Given the description of an element on the screen output the (x, y) to click on. 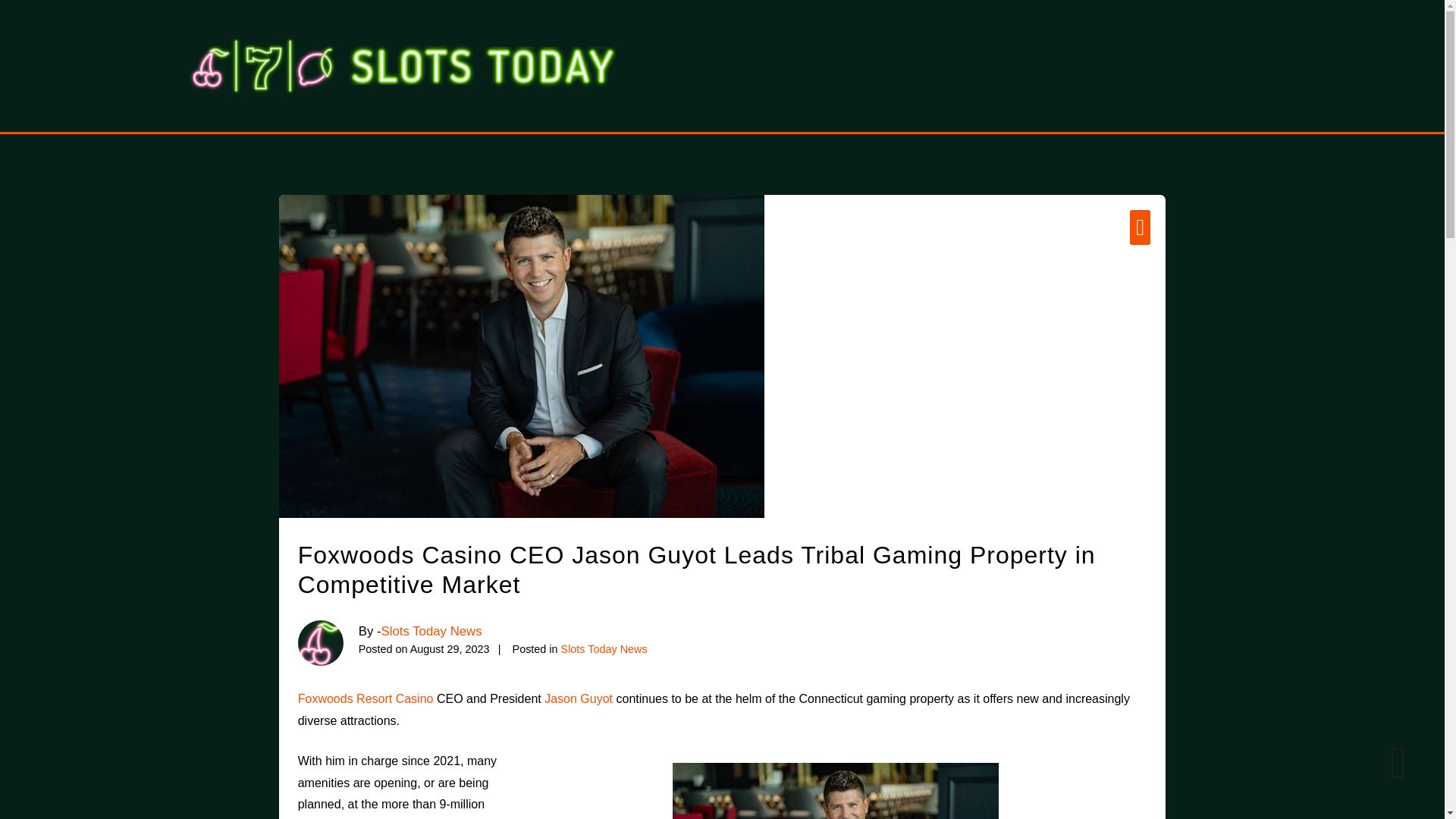
Foxwoods Resort Casino (365, 698)
Jason Guyot (578, 698)
Slots Today News (431, 631)
Slots Today News (603, 648)
